Given the description of an element on the screen output the (x, y) to click on. 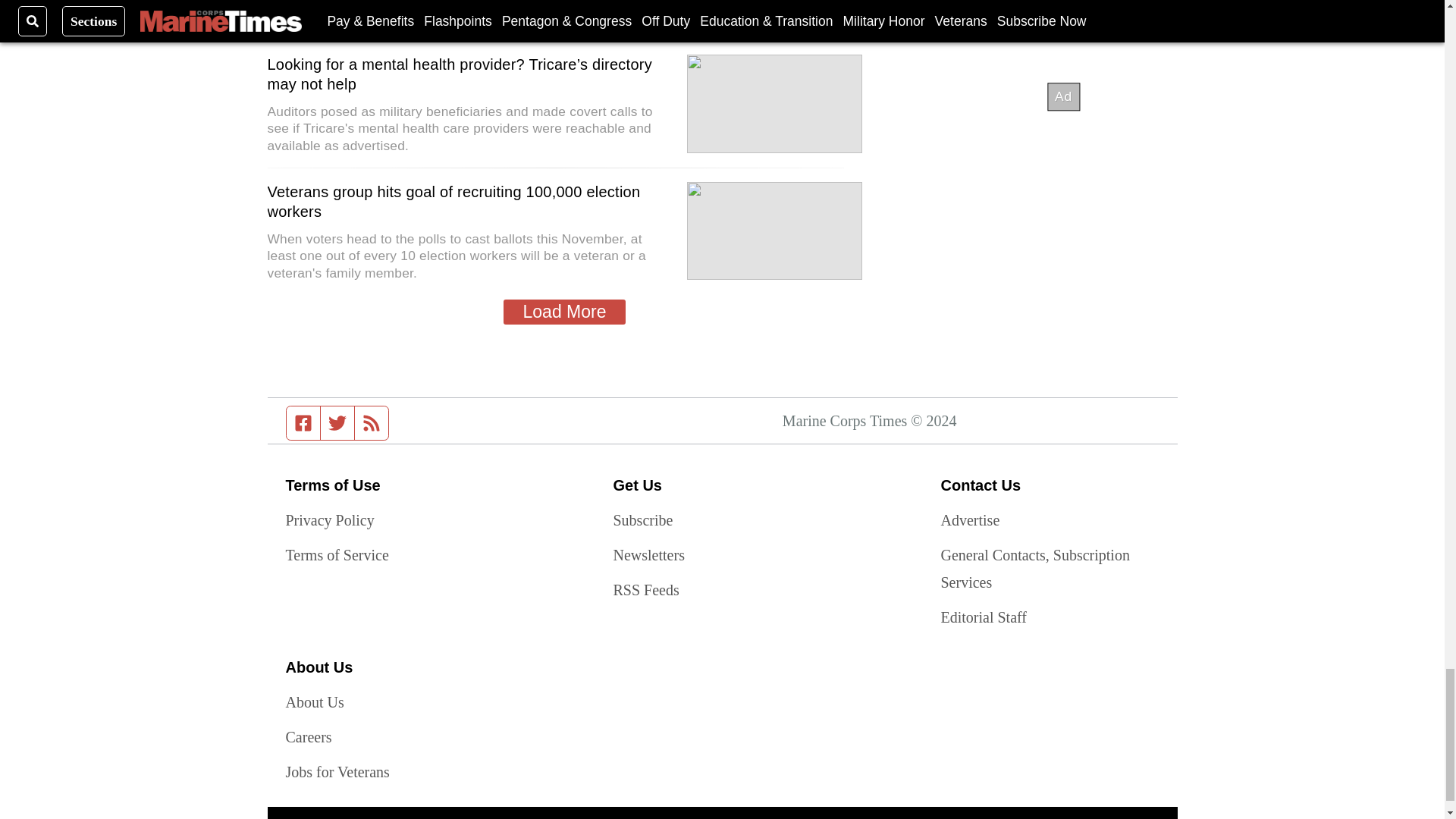
Twitter feed (336, 422)
Facebook page (303, 422)
RSS feed (371, 422)
